Given the description of an element on the screen output the (x, y) to click on. 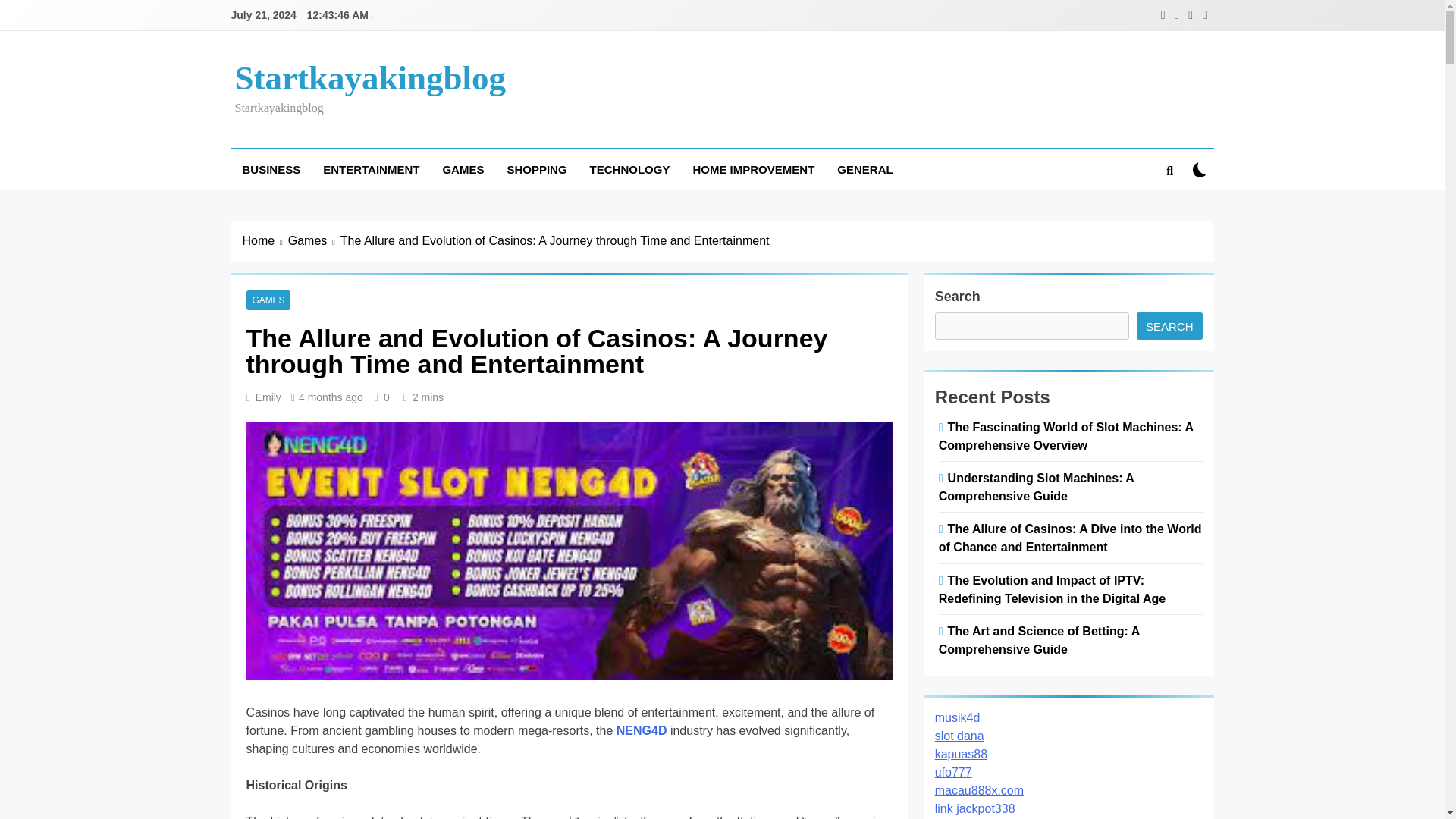
Startkayakingblog (370, 77)
ENTERTAINMENT (370, 169)
on (1199, 169)
SEARCH (1169, 325)
GAMES (267, 299)
BUSINESS (270, 169)
Emily (268, 397)
Home (265, 240)
HOME IMPROVEMENT (753, 169)
NENG4D (640, 730)
GAMES (462, 169)
GENERAL (864, 169)
SHOPPING (536, 169)
Understanding Slot Machines: A Comprehensive Guide (1036, 486)
